Given the description of an element on the screen output the (x, y) to click on. 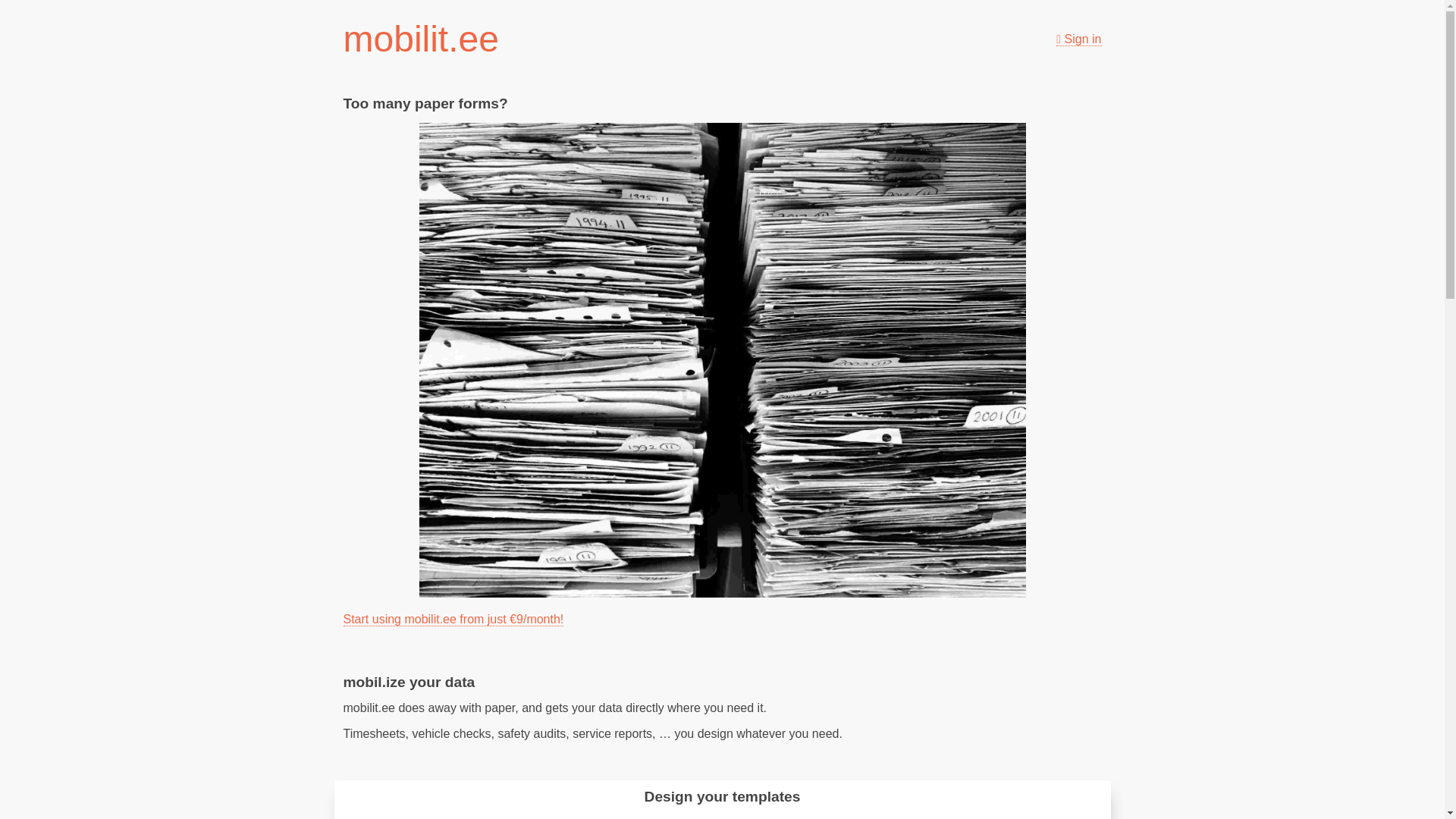
Sign in (1078, 38)
mobilit.ee (419, 38)
